Given the description of an element on the screen output the (x, y) to click on. 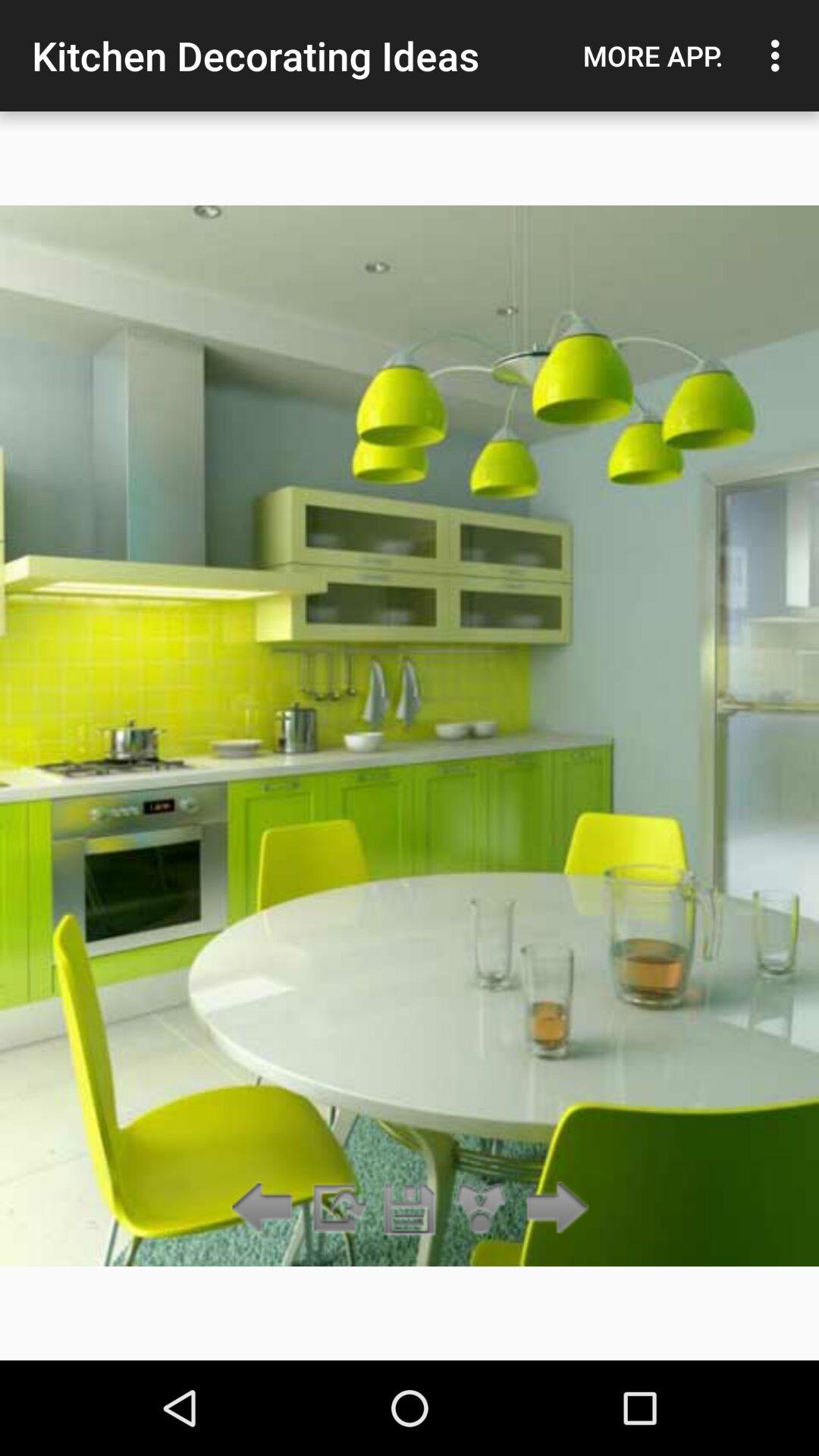
launch the item next to the more app. item (779, 55)
